Given the description of an element on the screen output the (x, y) to click on. 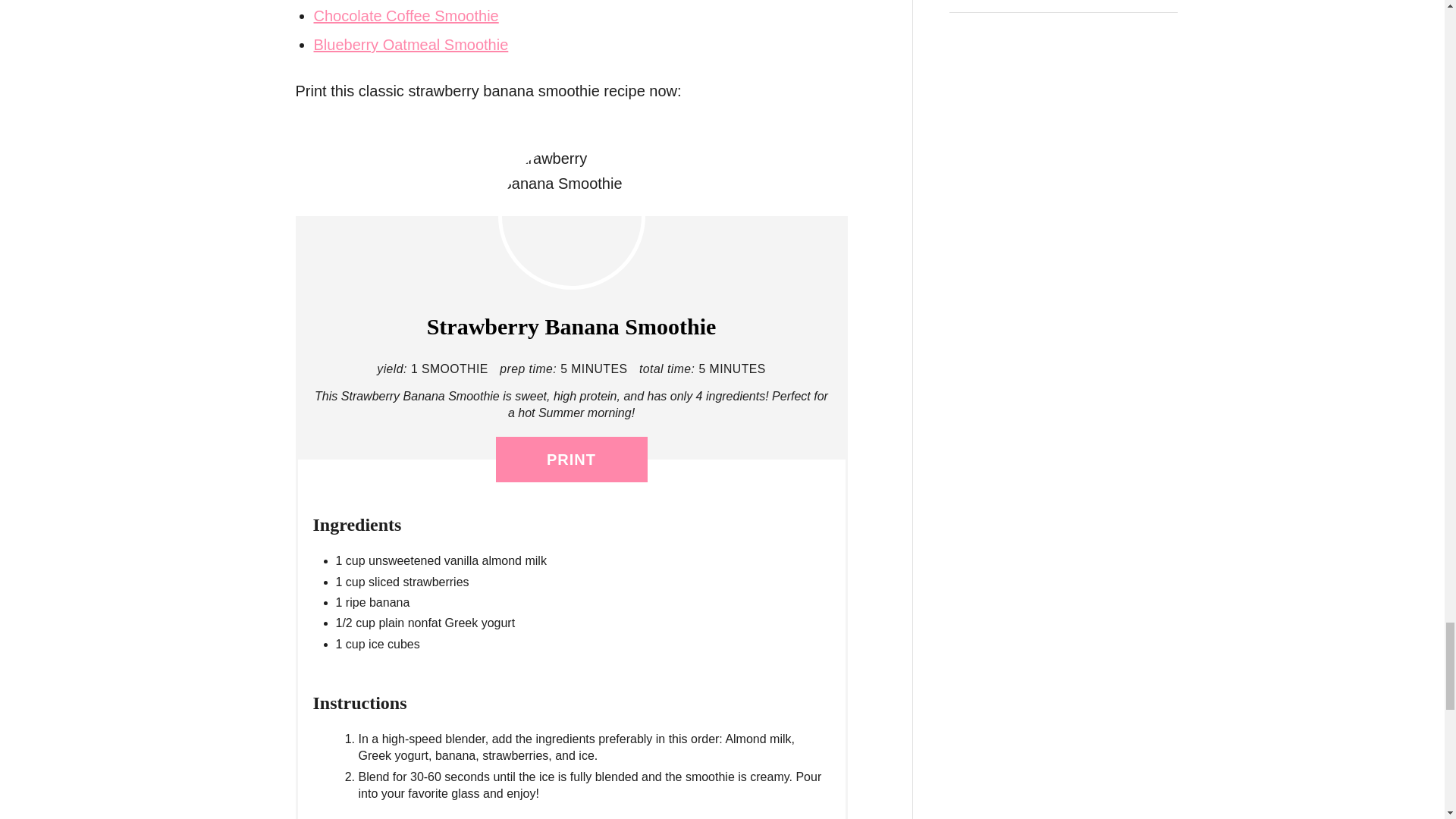
Chocolate Coffee Smoothie (406, 15)
PRINT (571, 459)
Blueberry Oatmeal Smoothie (411, 44)
